Given the description of an element on the screen output the (x, y) to click on. 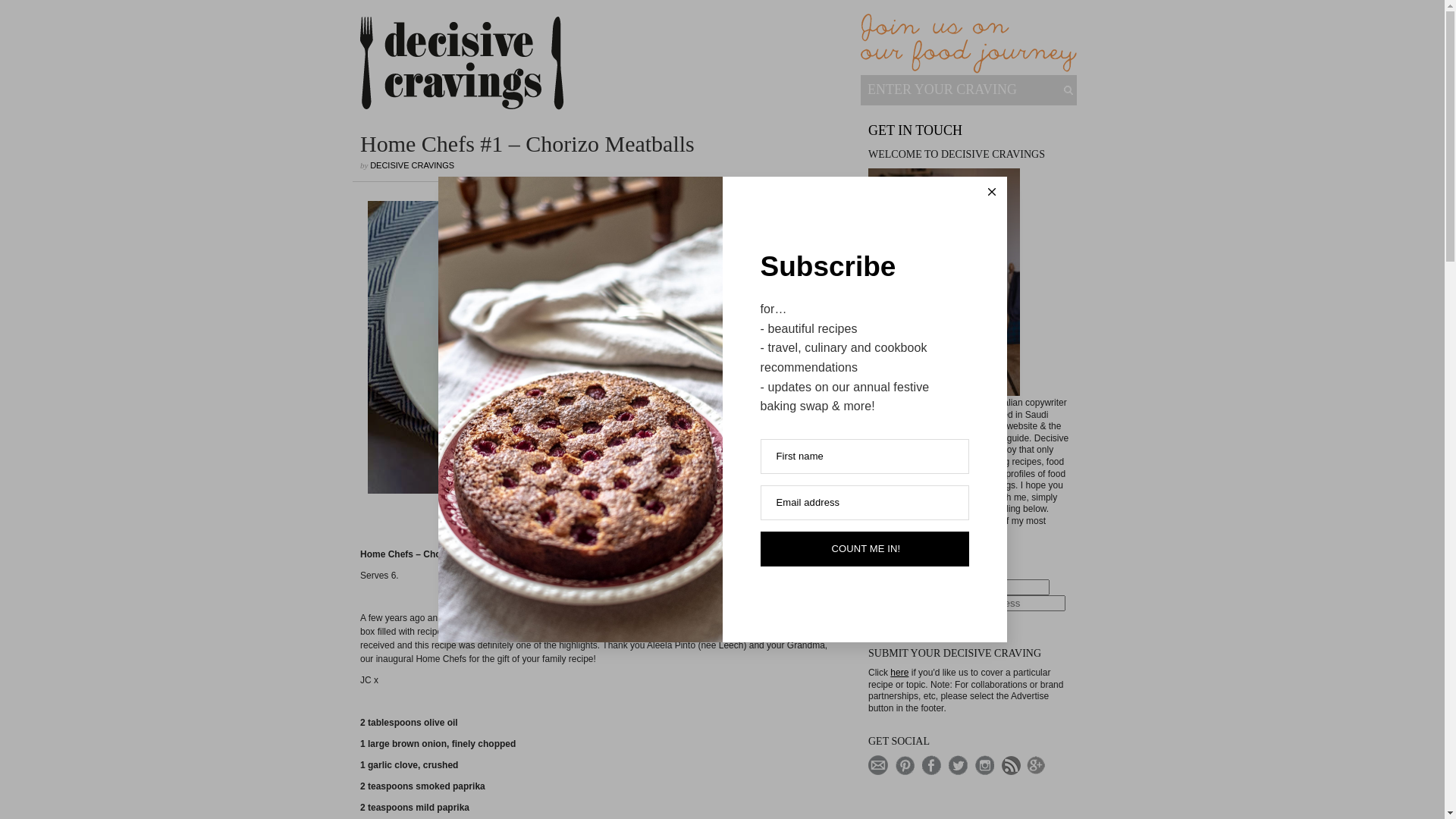
Sign up Element type: text (891, 619)
DECISIVE CRAVINGS Element type: text (412, 164)
here Element type: text (899, 672)
Enter your craving Element type: text (960, 89)
 COUNT ME IN! Element type: text (863, 548)
